Given the description of an element on the screen output the (x, y) to click on. 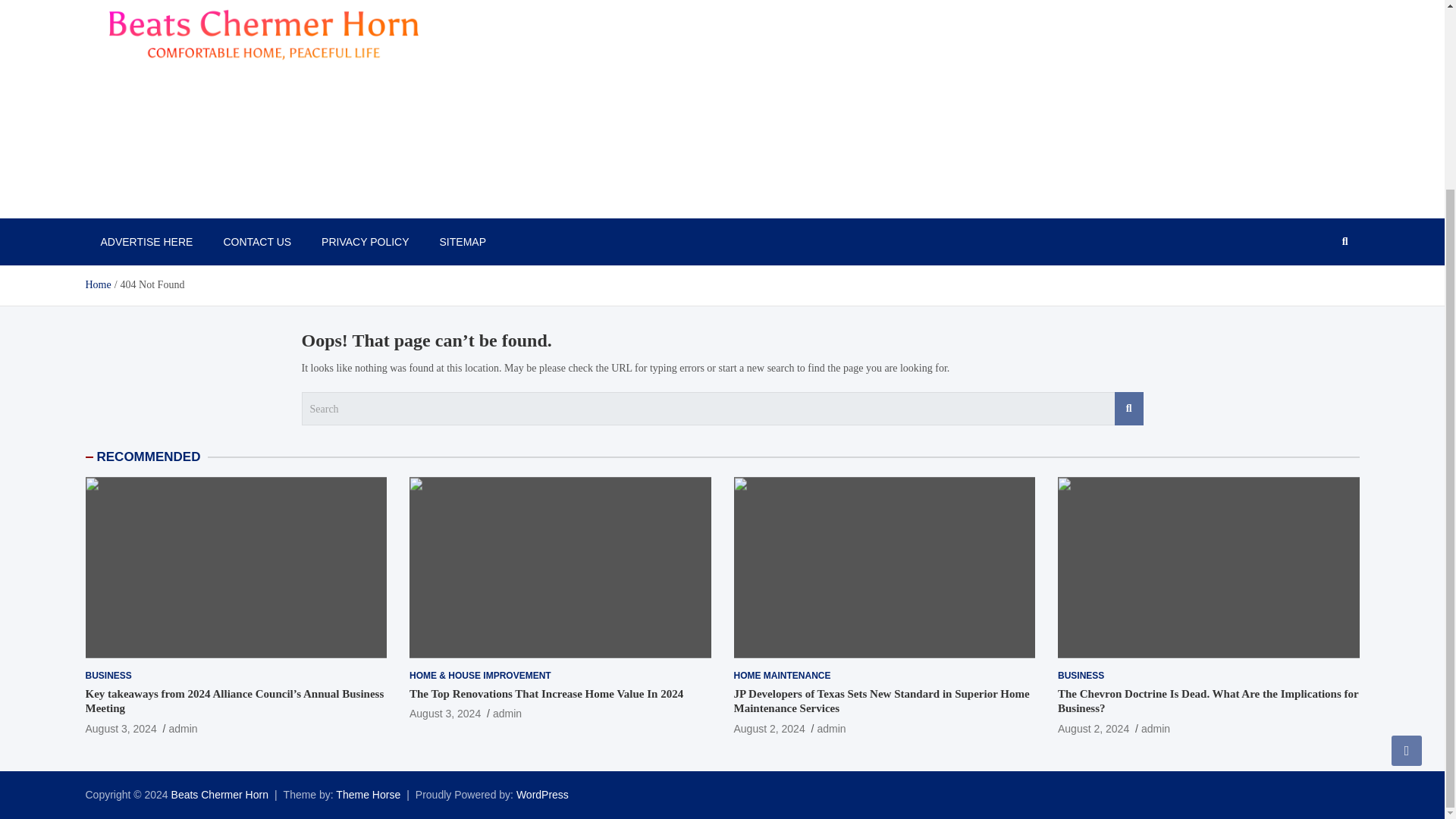
Beats Chermer Horn (193, 201)
Beats Chermer Horn (219, 794)
WordPress (542, 794)
Theme Horse (368, 794)
Home (97, 284)
August 2, 2024 (1093, 728)
BUSINESS (1080, 676)
admin (1155, 728)
Theme Horse (368, 794)
August 2, 2024 (769, 728)
Go to Top (1406, 514)
RECOMMENDED (148, 456)
The Top Renovations That Increase Home Value In 2024 (545, 693)
PRIVACY POLICY (364, 241)
